Given the description of an element on the screen output the (x, y) to click on. 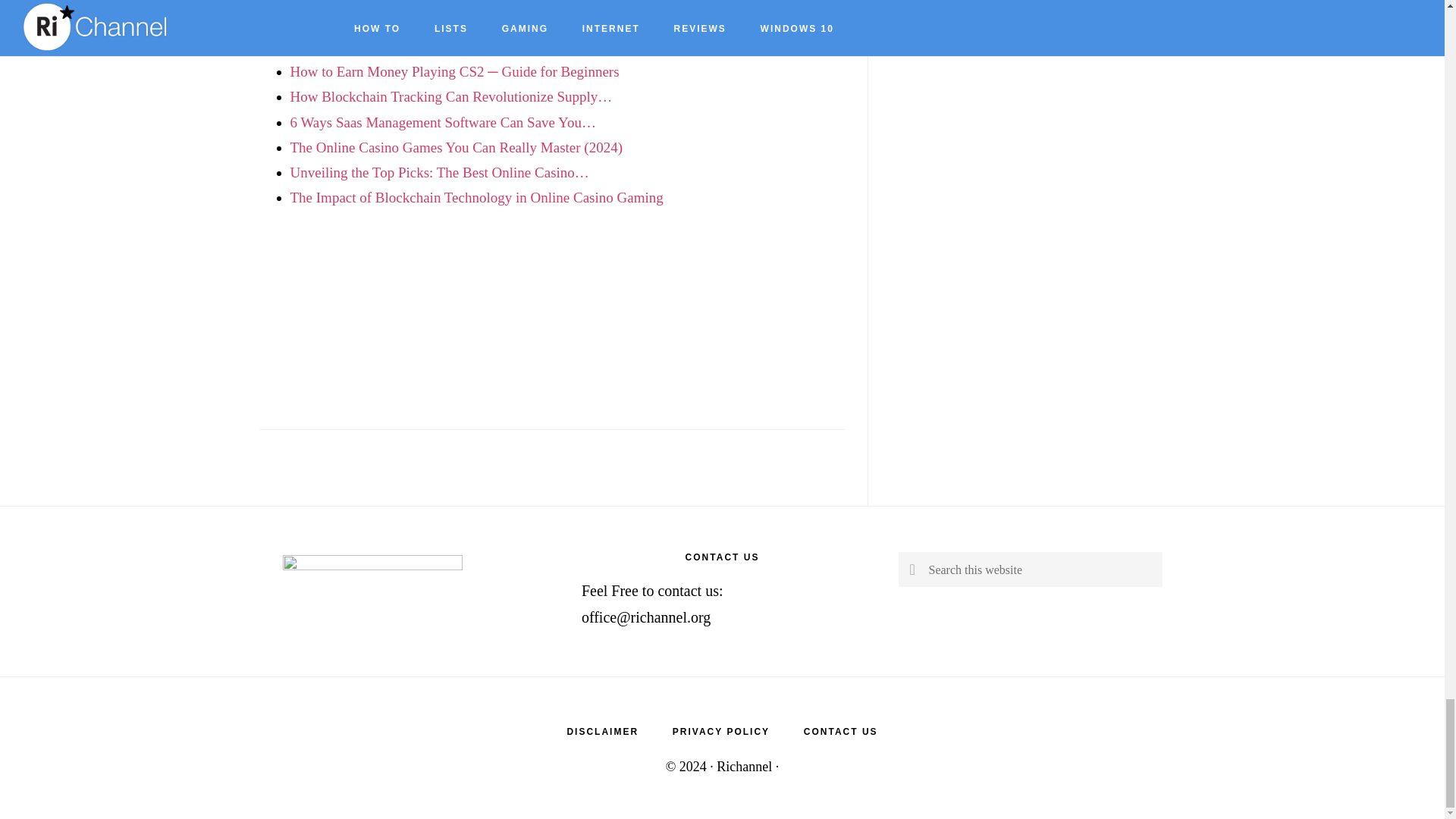
The Impact of Blockchain Technology in Online Casino Gaming (475, 197)
4 Ways the Internet Can Help You to Earn Money - 2024 Tips (467, 21)
Can You Earn Yield on Crypto in Cold Storage? (427, 46)
